Given the description of an element on the screen output the (x, y) to click on. 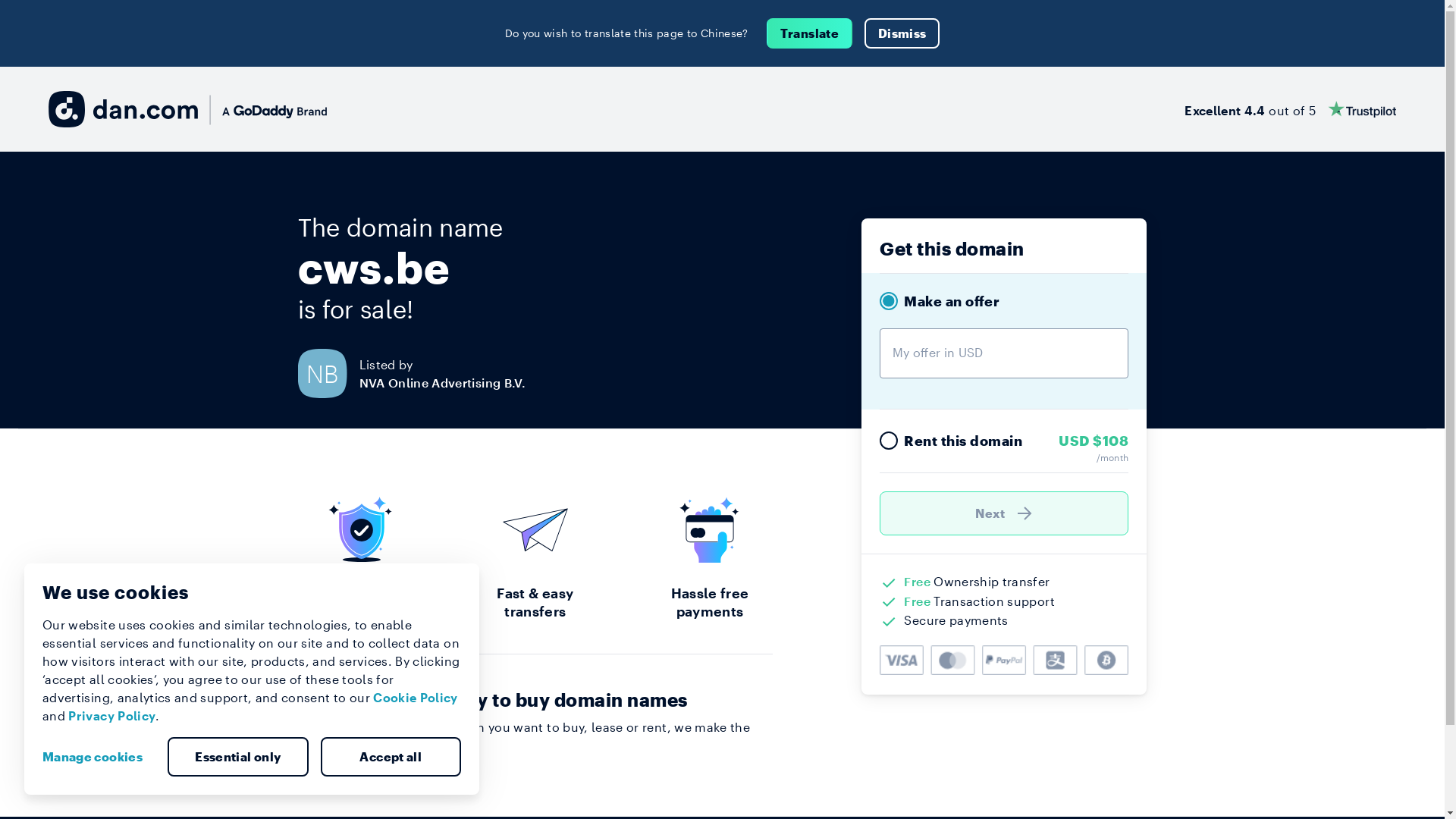
Dismiss Element type: text (901, 33)
Excellent 4.4 out of 5 Element type: text (1290, 109)
Privacy Policy Element type: text (111, 715)
Next
) Element type: text (1003, 513)
Translate Element type: text (809, 33)
Accept all Element type: text (390, 756)
Cookie Policy Element type: text (415, 697)
Manage cookies Element type: text (98, 756)
Essential only Element type: text (237, 756)
